Given the description of an element on the screen output the (x, y) to click on. 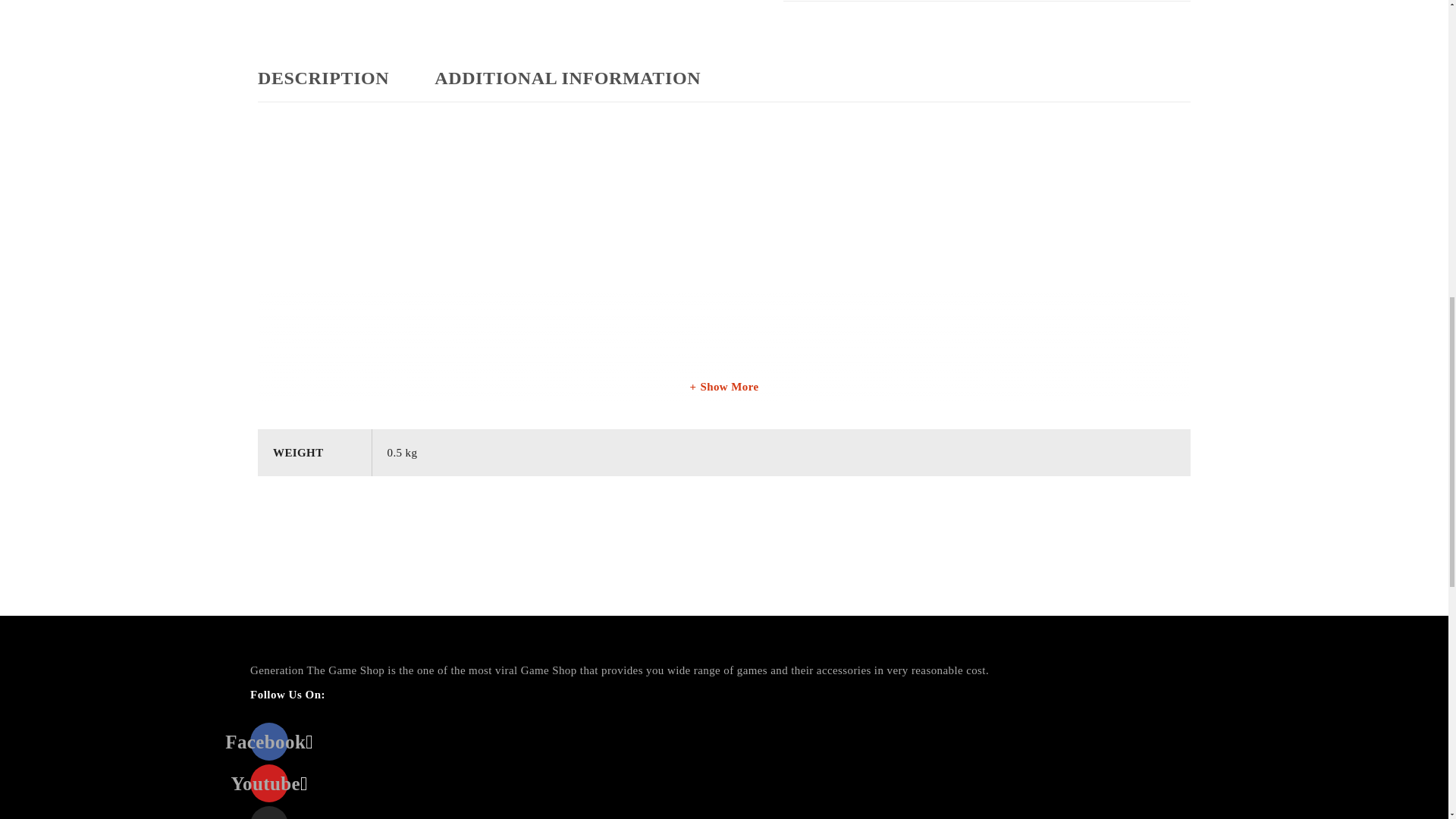
Instagram (269, 812)
Youtube (269, 783)
Splatoon 2 - Nintendo Switch Presentation 2017 Trailer (447, 248)
Show More (724, 386)
DESCRIPTION (322, 77)
Facebook (269, 741)
ADDITIONAL INFORMATION (566, 77)
